Given the description of an element on the screen output the (x, y) to click on. 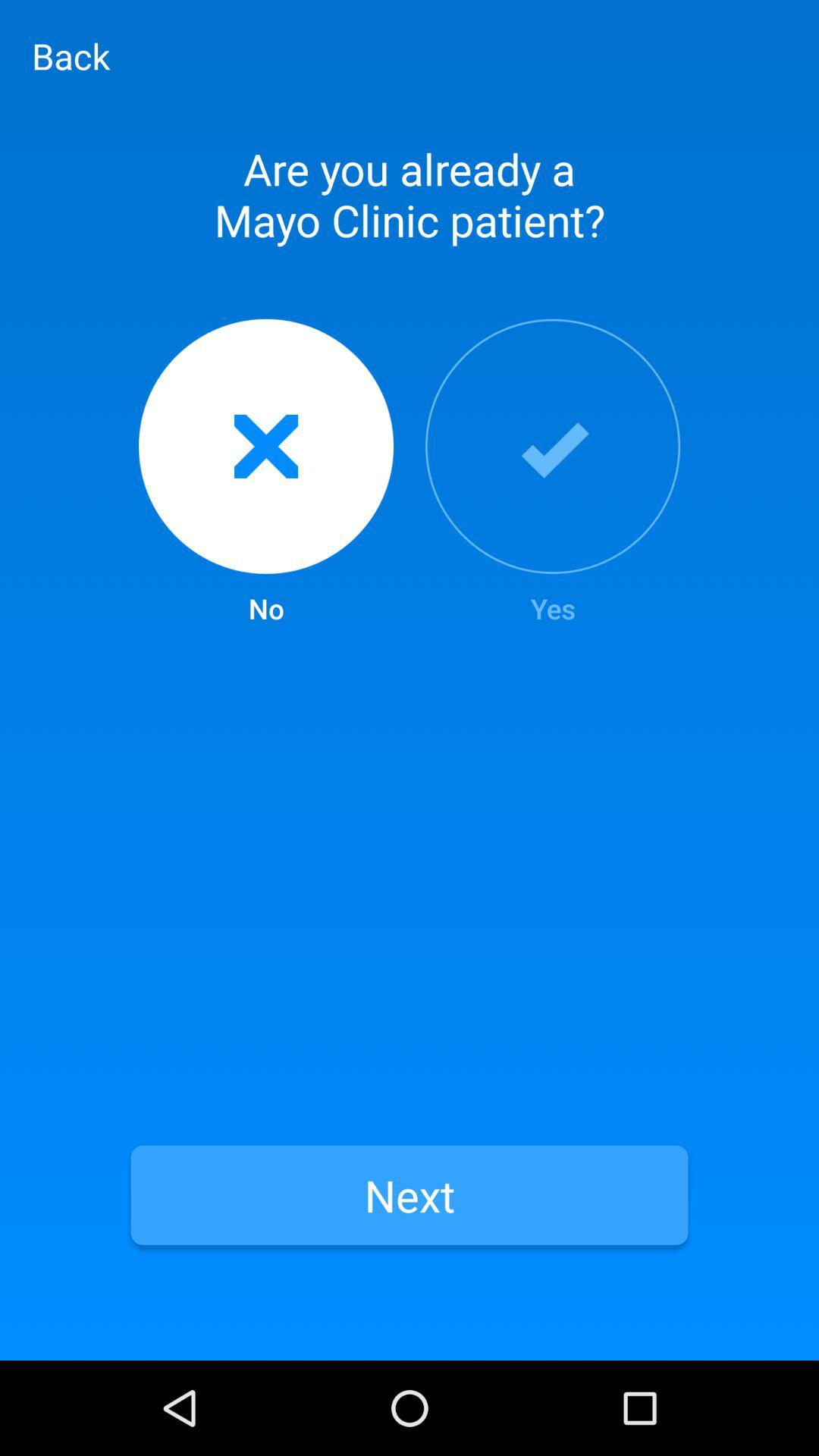
launch icon to the right of no item (552, 473)
